Given the description of an element on the screen output the (x, y) to click on. 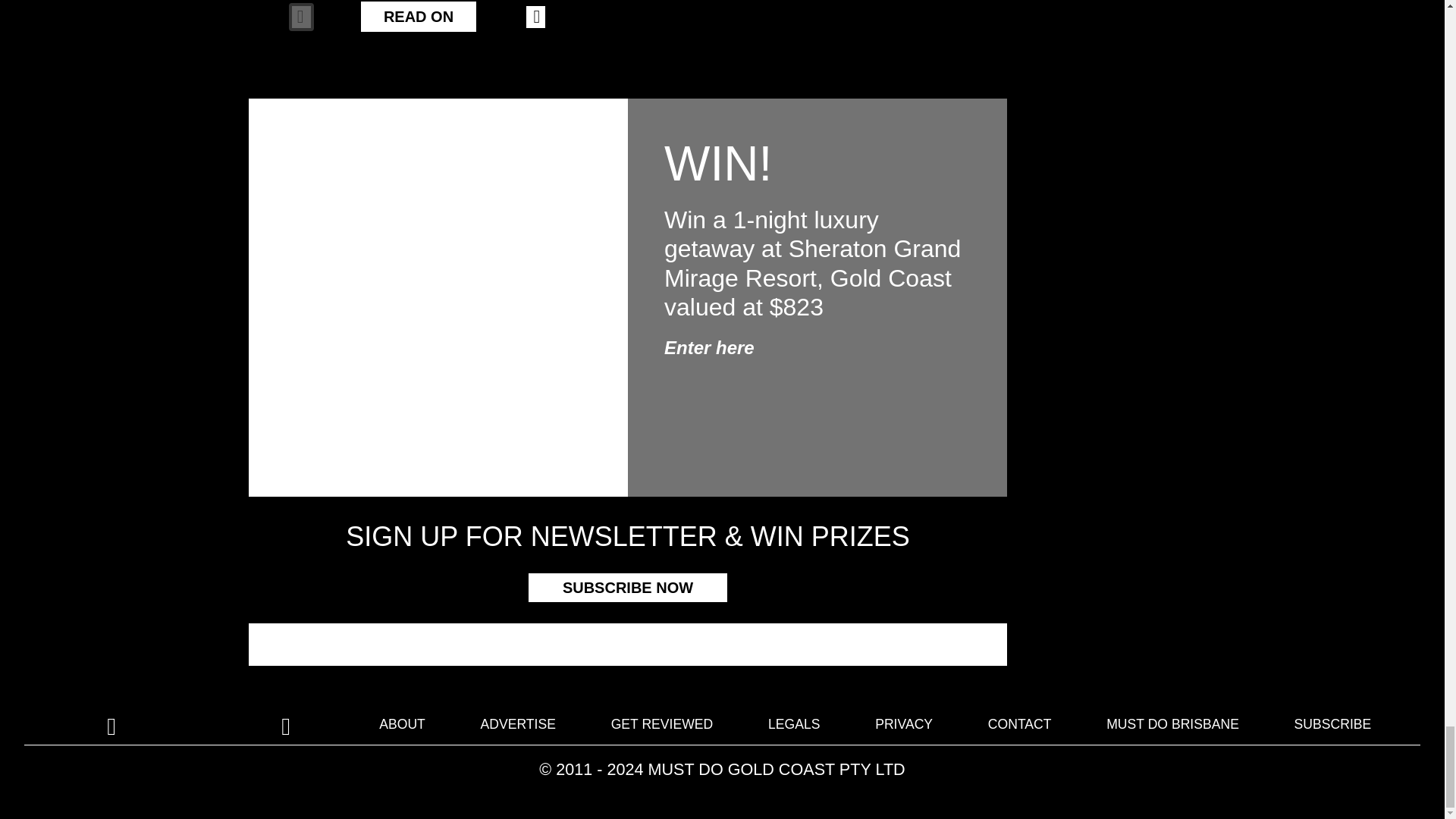
Nahm Talay Thai Surfers Paradise  (627, 43)
